Given the description of an element on the screen output the (x, y) to click on. 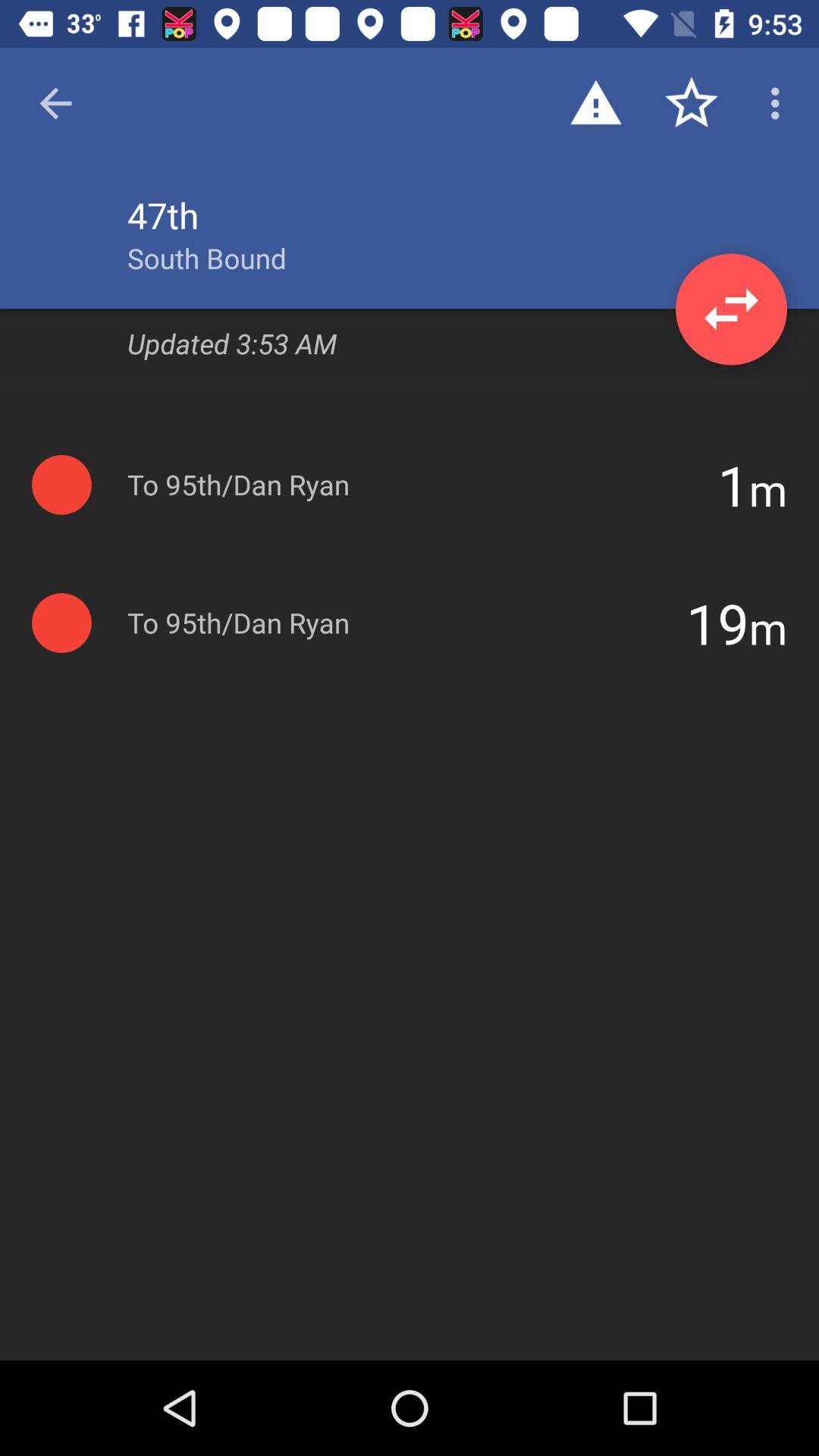
jump to 1 (733, 484)
